Given the description of an element on the screen output the (x, y) to click on. 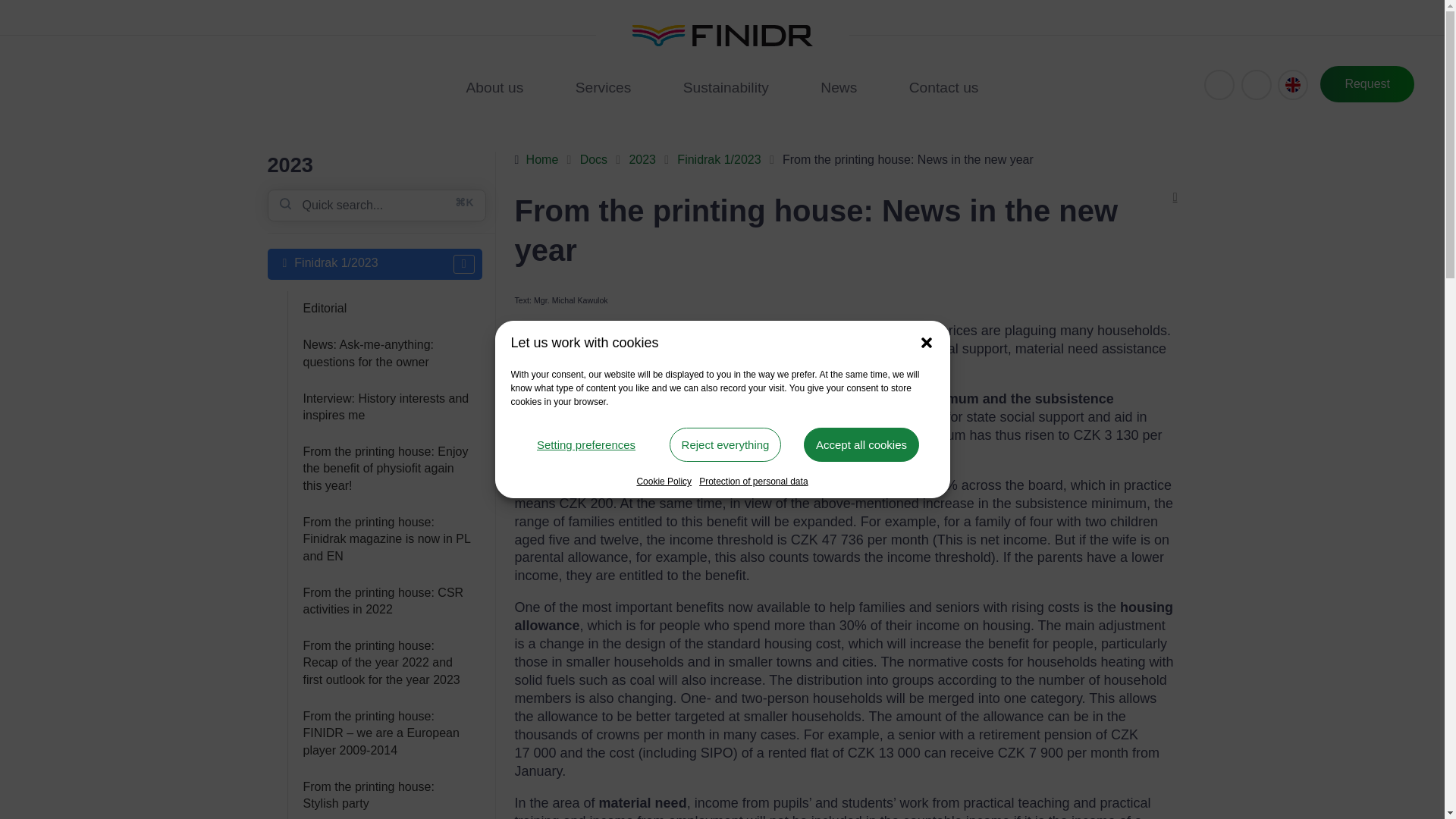
Setting preferences (585, 444)
News (838, 88)
Sustainability (726, 88)
About us (495, 88)
Cookie Policy (663, 481)
Contact us (944, 88)
Accept all cookies (860, 444)
Customer section (1219, 84)
Choose language (1292, 84)
Search for: (375, 205)
Reject everything (725, 444)
Search (1255, 84)
Services (603, 88)
Protection of personal data (753, 481)
Request (1366, 84)
